Given the description of an element on the screen output the (x, y) to click on. 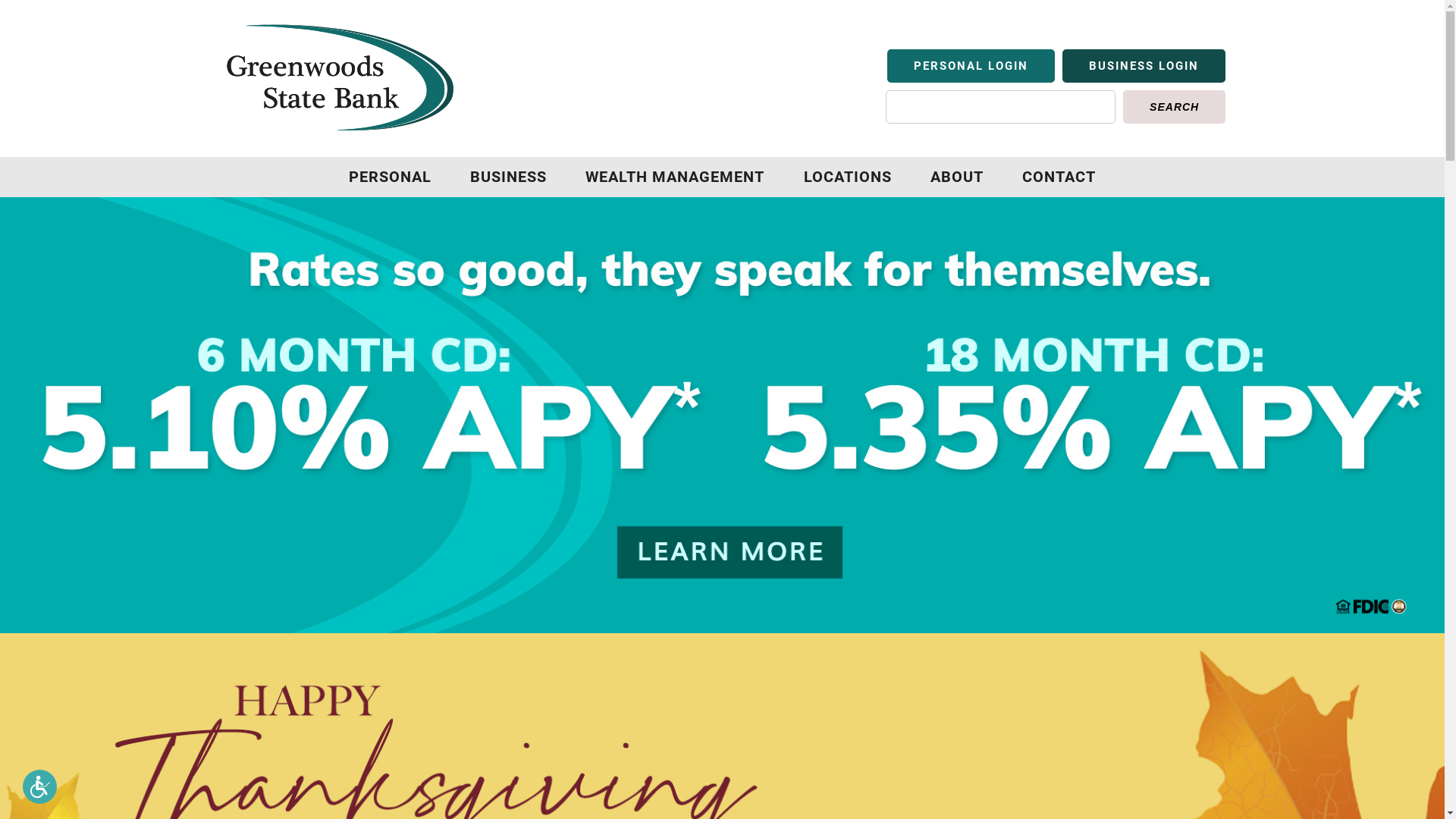
LOCATIONS Element type: text (847, 176)
BUSINESS Element type: text (508, 176)
CONTACT Element type: text (1058, 176)
WEALTH MANAGEMENT Element type: text (674, 176)
PERSONAL LOGIN Element type: text (970, 65)
ABOUT Element type: text (956, 176)
PERSONAL Element type: text (390, 176)
BUSINESS LOGIN Element type: text (1143, 65)
Search Element type: text (1174, 106)
